Given the description of an element on the screen output the (x, y) to click on. 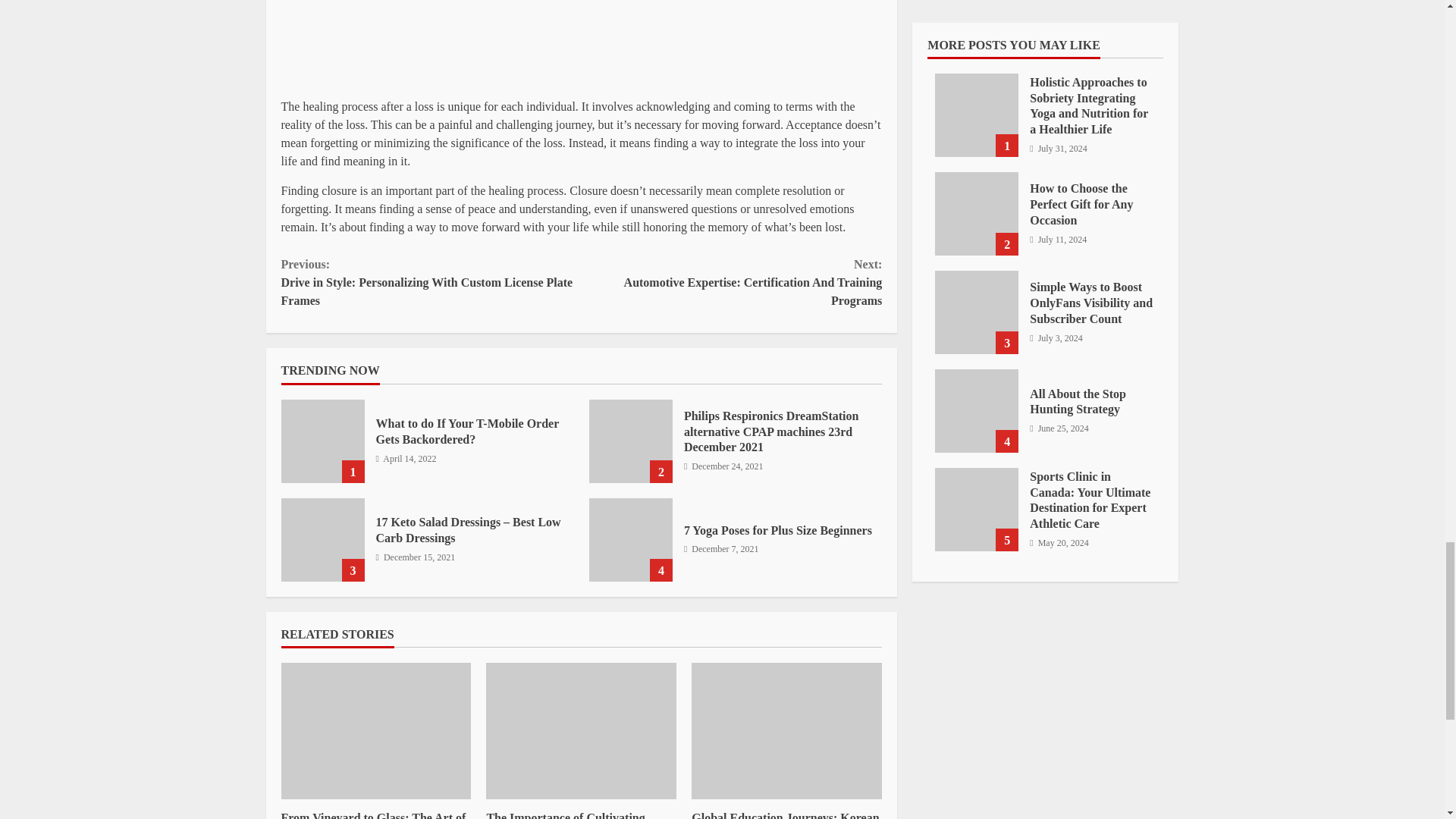
What to do If Your T-Mobile Order Gets Backordered? (322, 441)
What to do If Your T-Mobile Order Gets Backordered? (467, 430)
7 Yoga Poses for Plus Size Beginners (630, 539)
From Vineyard to Glass: The Art of Crafting Sandeman Porto (373, 815)
From Vineyard to Glass: The Art of Crafting Sandeman Porto (375, 730)
7 Yoga Poses for Plus Size Beginners (778, 530)
